Given the description of an element on the screen output the (x, y) to click on. 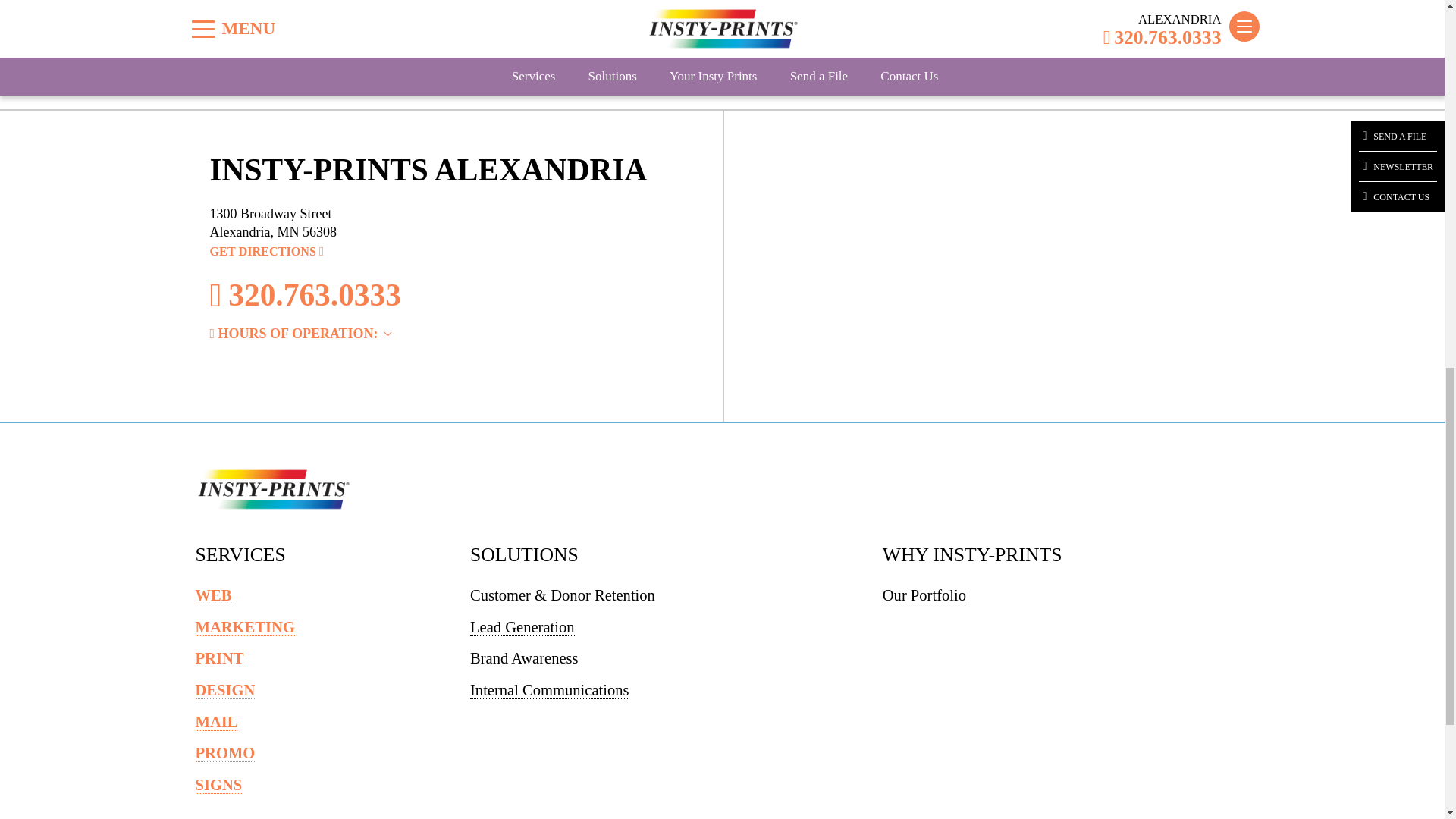
320.763.0333 (445, 295)
GET DIRECTIONS (266, 251)
Visit Google Map (266, 251)
